Given the description of an element on the screen output the (x, y) to click on. 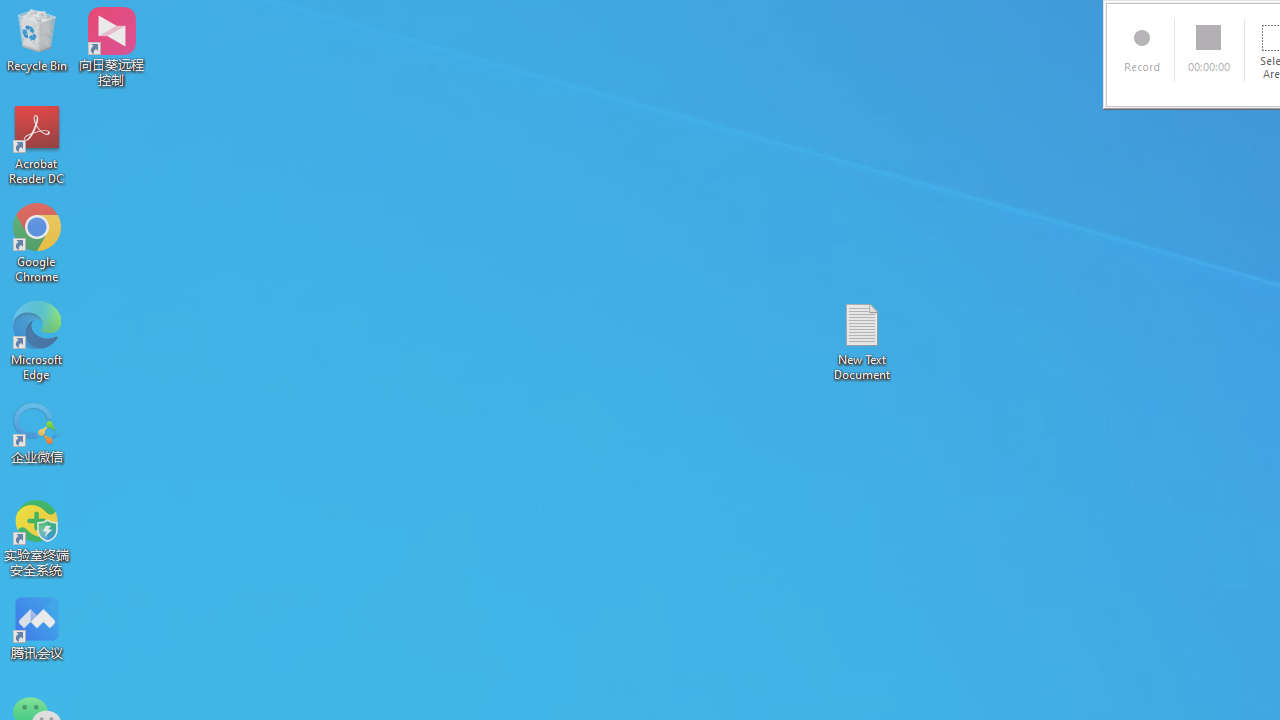
00:00:00 (1209, 50)
